Given the description of an element on the screen output the (x, y) to click on. 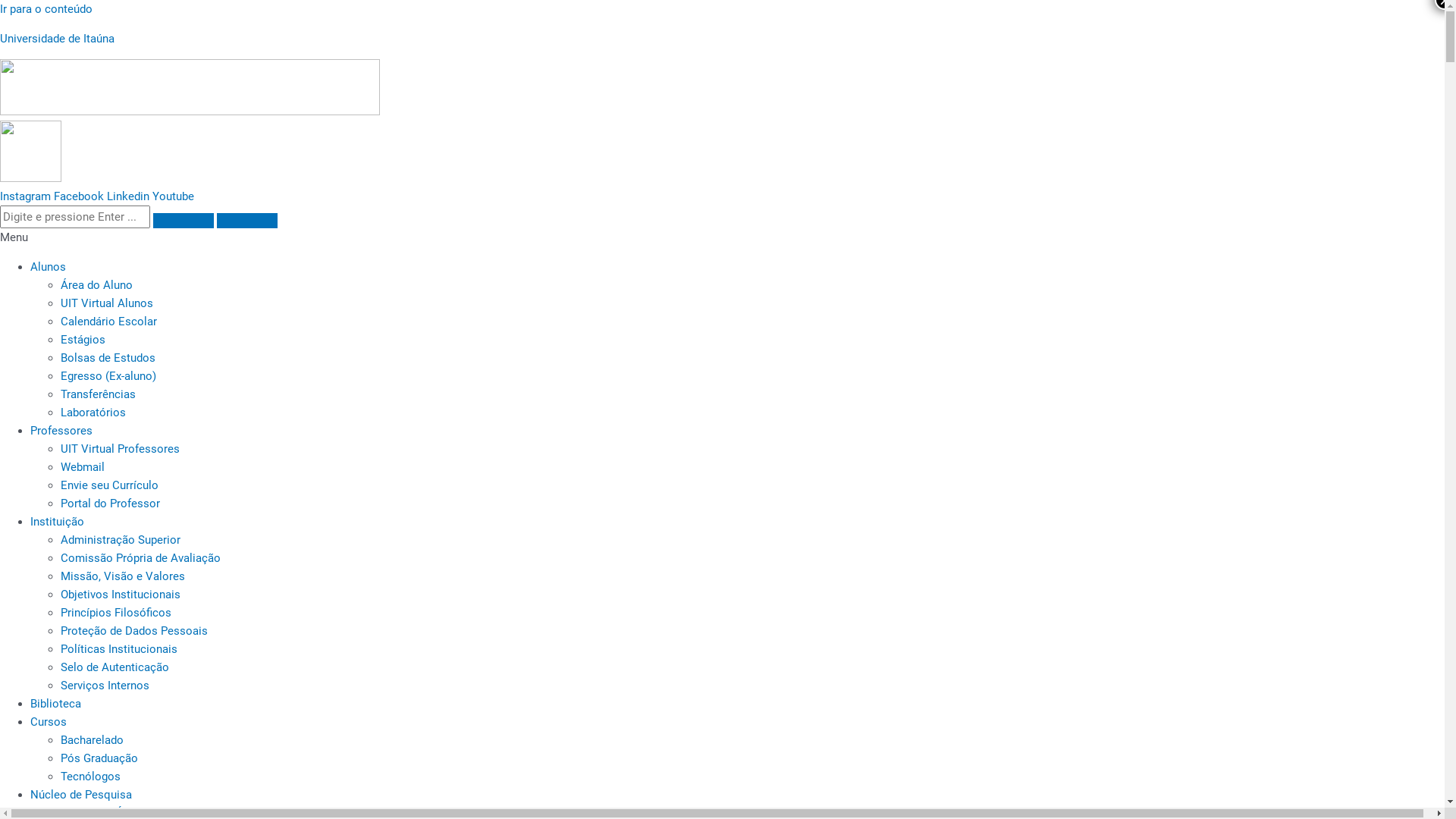
Objetivos Institucionais Element type: text (120, 594)
Egresso (Ex-aluno) Element type: text (108, 375)
Bolsas de Estudos Element type: text (107, 357)
Youtube Element type: text (173, 196)
UIT Virtual Professores Element type: text (119, 448)
Webmail Element type: text (82, 466)
Portal do Professor Element type: text (110, 503)
Linkedin Element type: text (129, 196)
UIT Virtual Alunos Element type: text (106, 303)
Facebook Element type: text (79, 196)
Alunos Element type: text (47, 266)
Instagram Element type: text (26, 196)
Cursos Element type: text (48, 721)
Bacharelado Element type: text (91, 739)
Search Element type: hover (75, 216)
Biblioteca Element type: text (55, 703)
Professores Element type: text (61, 430)
